Given the description of an element on the screen output the (x, y) to click on. 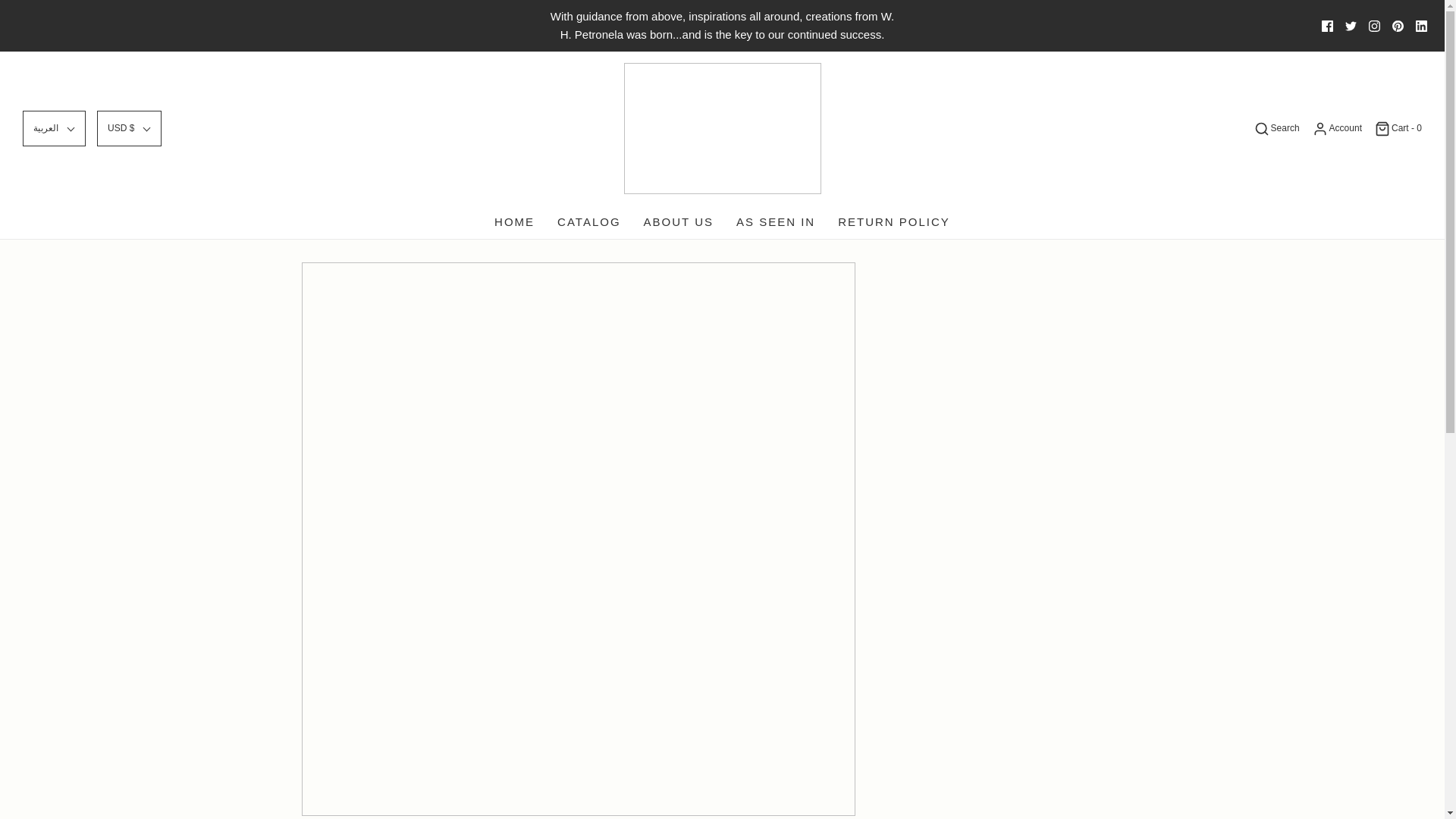
Facebook icon (1327, 25)
RETURN POLICY (894, 222)
Twitter icon (1350, 25)
Cart (1397, 128)
Account (1336, 128)
Twitter icon (1350, 25)
CATALOG (588, 222)
Instagram icon (1374, 25)
Instagram icon (1374, 25)
Log in (1336, 128)
